Given the description of an element on the screen output the (x, y) to click on. 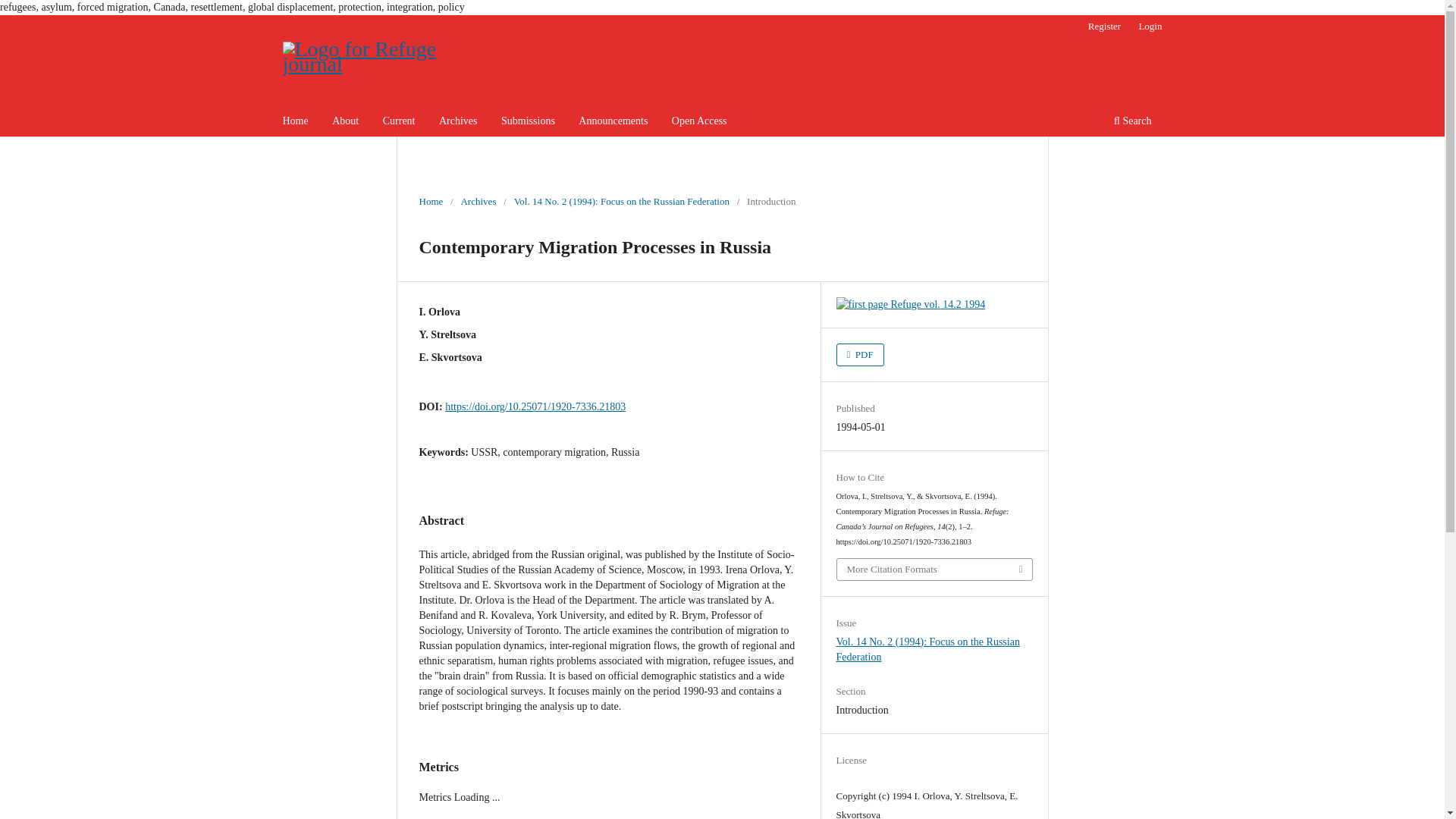
Current (398, 122)
Login (1150, 26)
Search (1132, 122)
PDF (859, 354)
Archives (458, 122)
More Citation Formats (934, 568)
Home (296, 122)
Archives (478, 201)
Submissions (528, 122)
About (345, 122)
Home (430, 201)
Open Access (699, 122)
Announcements (612, 122)
Register (1104, 26)
